Given the description of an element on the screen output the (x, y) to click on. 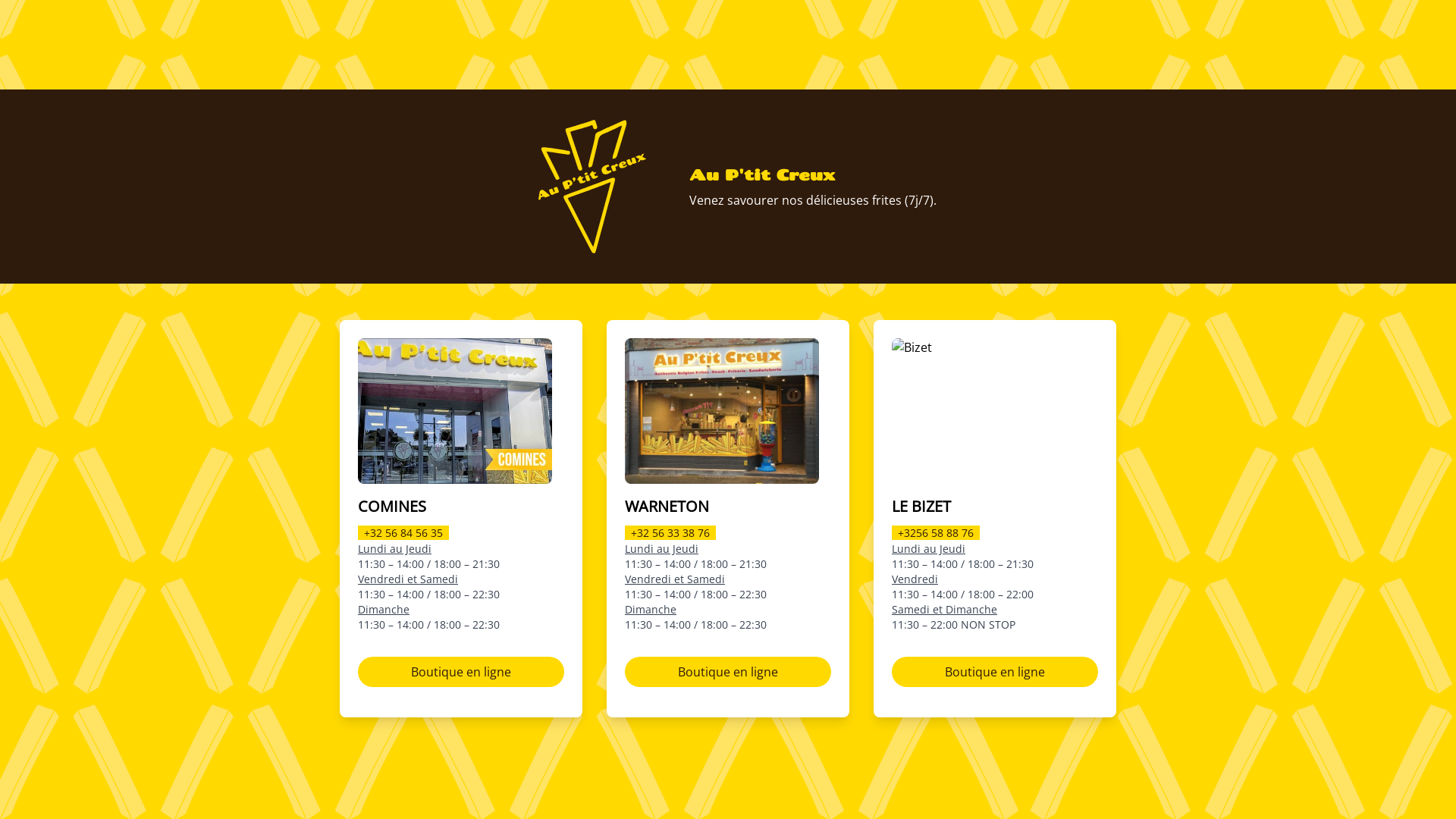
Boutique en ligne Element type: text (460, 671)
+32 56 33 38 76 Element type: text (669, 532)
Boutique en ligne Element type: text (727, 671)
Boutique en ligne Element type: text (994, 671)
+32 56 84 56 35 Element type: text (402, 532)
+3256 58 88 76 Element type: text (935, 532)
